Given the description of an element on the screen output the (x, y) to click on. 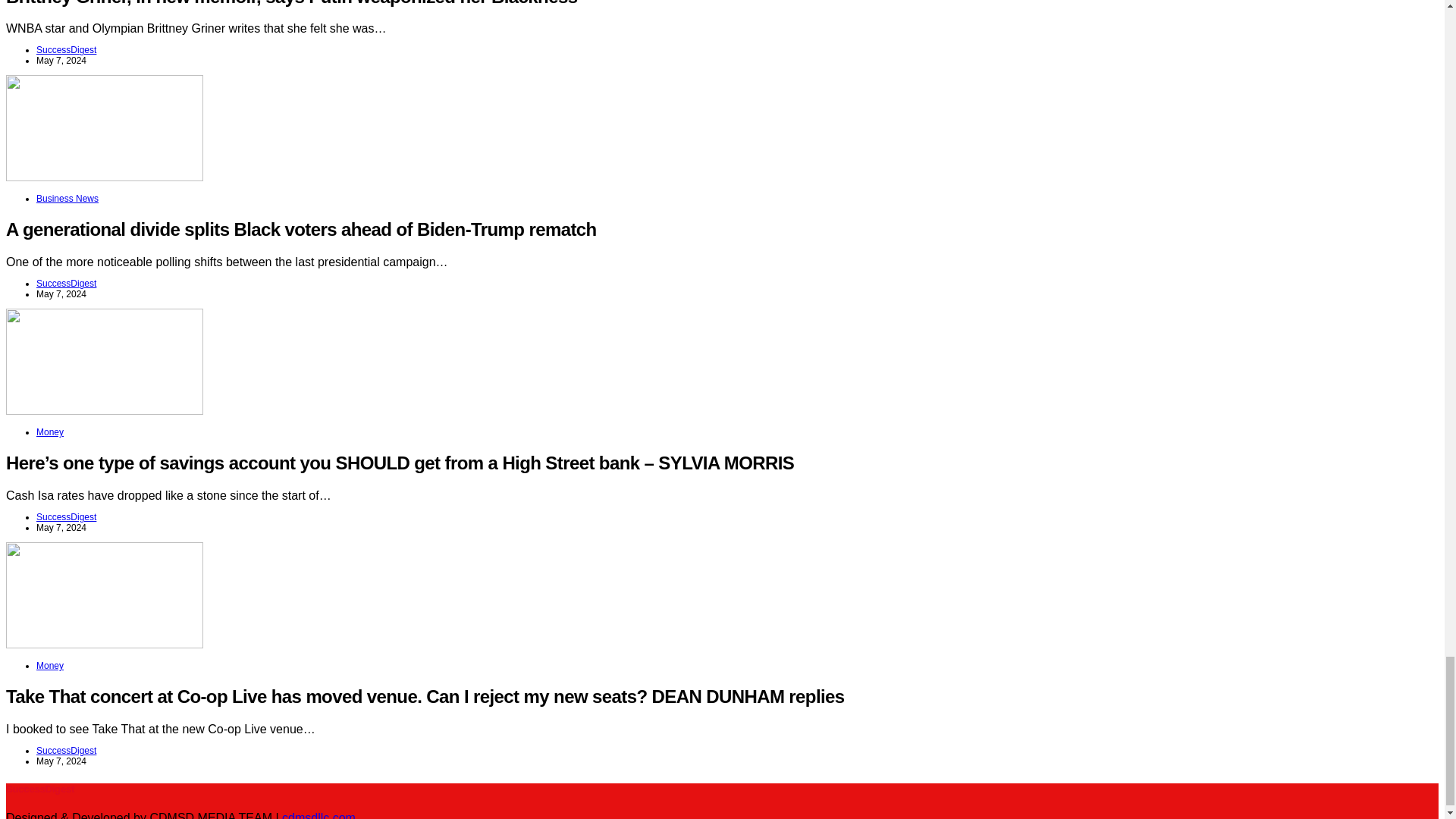
View all posts by SuccessDigest (66, 283)
View all posts by SuccessDigest (66, 516)
View all posts by SuccessDigest (66, 750)
View all posts by SuccessDigest (66, 50)
